Given the description of an element on the screen output the (x, y) to click on. 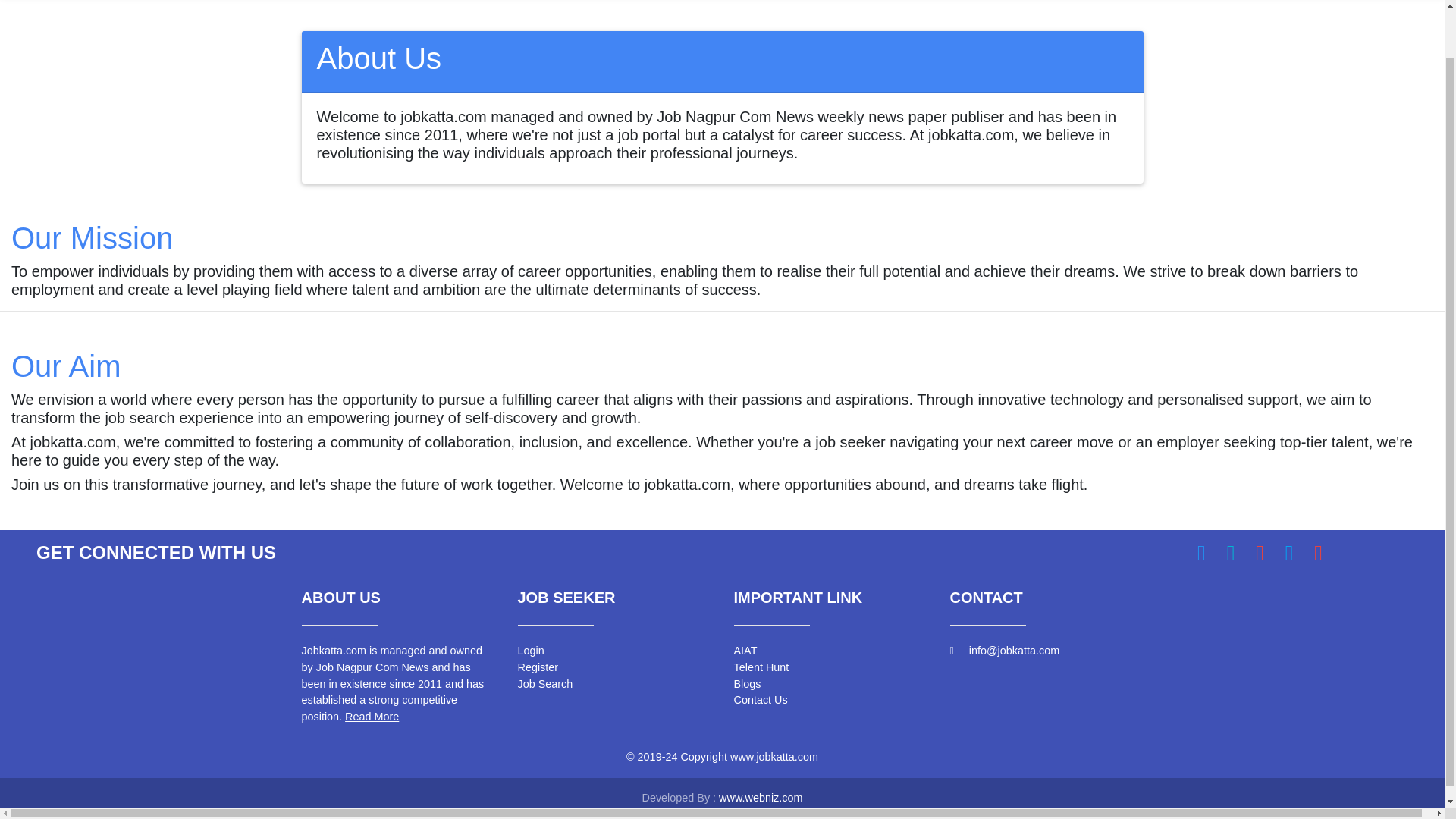
Login (529, 650)
Contact Us (760, 699)
Register (536, 666)
Telent Hunt (761, 666)
Read More (371, 716)
www.webniz.com (760, 797)
www.jobkatta.com (774, 756)
Blogs (747, 684)
AIAT (745, 650)
Job Search (544, 684)
